Given the description of an element on the screen output the (x, y) to click on. 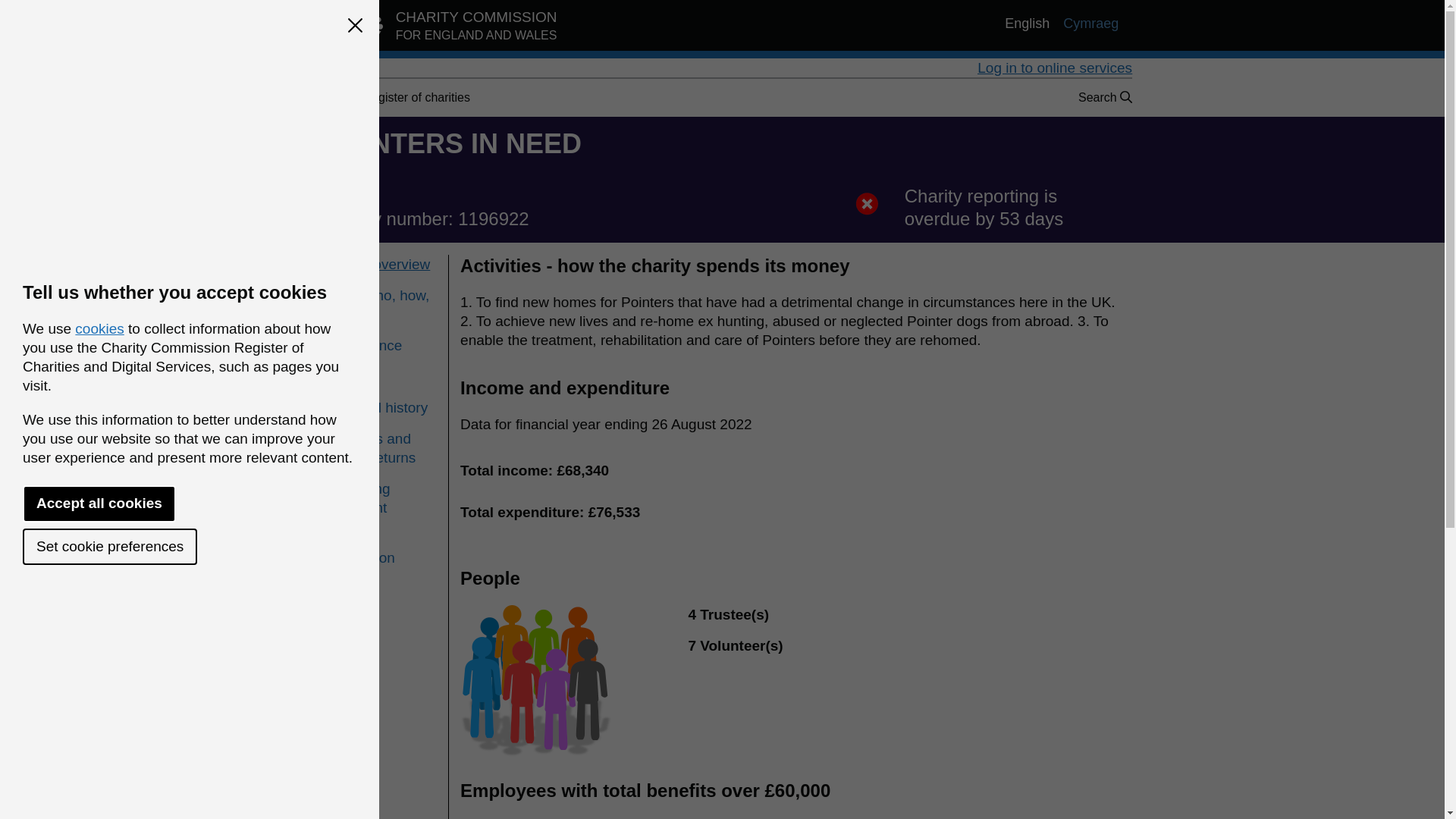
Set cookie preferences (109, 546)
About the register of charities (391, 97)
Governing document (379, 497)
What, who, how, where (439, 28)
About the register of charities (379, 304)
Accept all cookies (391, 97)
Governance (99, 503)
cookies (379, 344)
Financial history (99, 328)
